Given the description of an element on the screen output the (x, y) to click on. 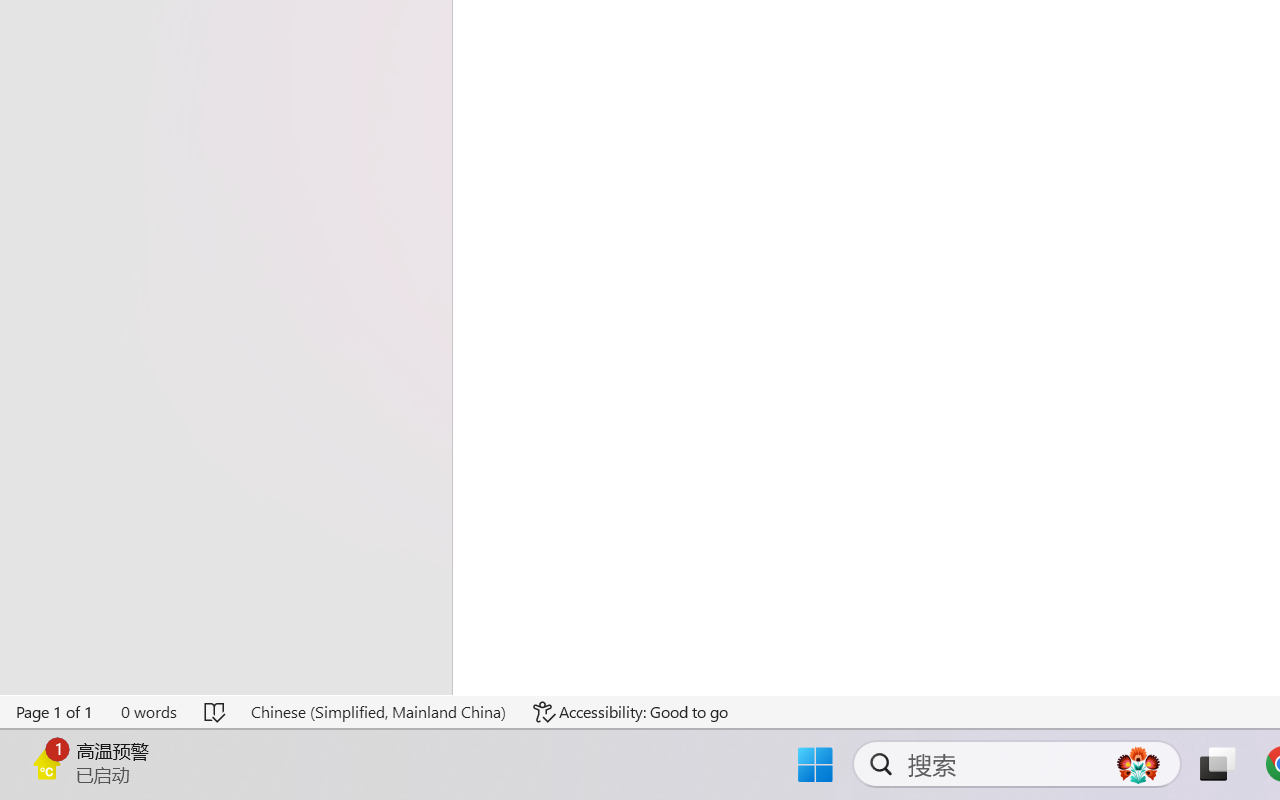
Language Chinese (Simplified, Mainland China) (378, 712)
